Given the description of an element on the screen output the (x, y) to click on. 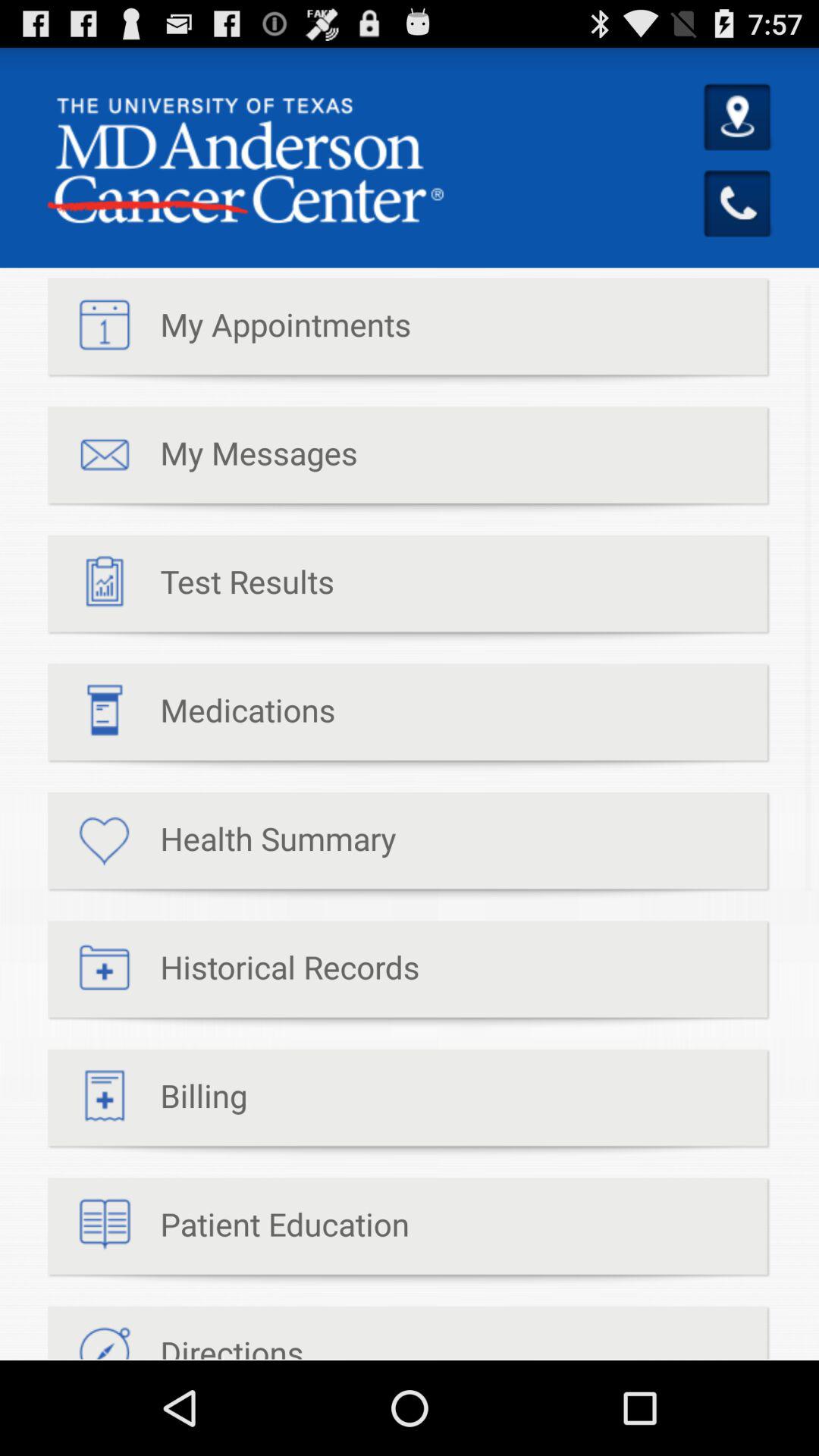
click the item below the health summary (233, 974)
